Given the description of an element on the screen output the (x, y) to click on. 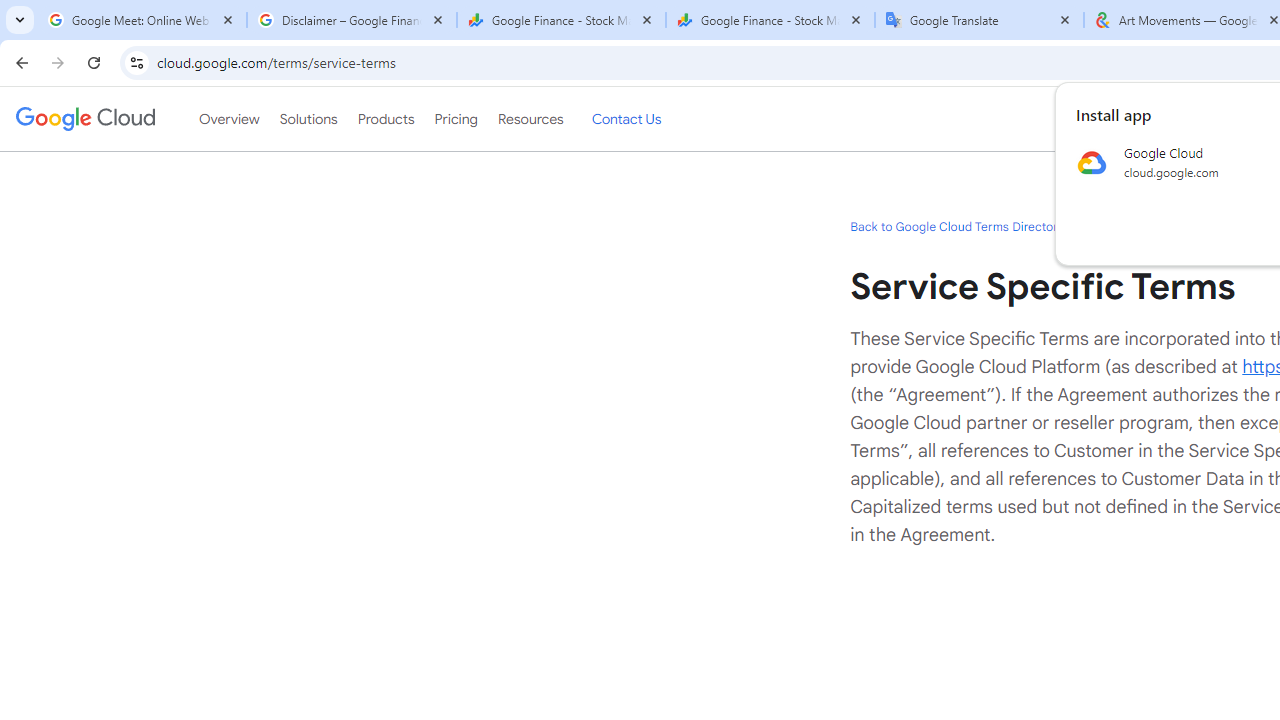
Solutions (308, 119)
Products (385, 119)
Pricing (455, 119)
